Given the description of an element on the screen output the (x, y) to click on. 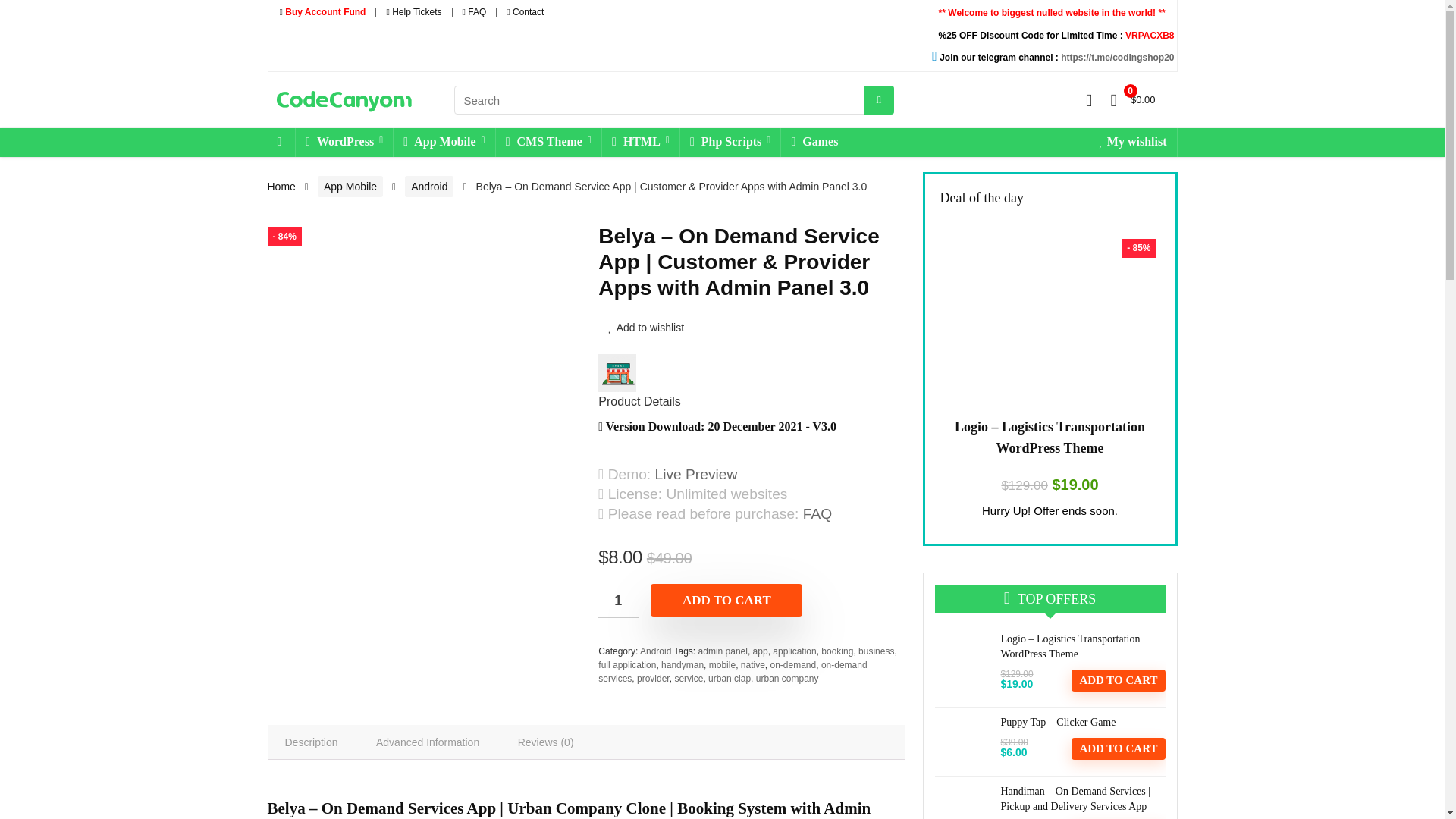
ADD TO CART (726, 599)
App Mobile (444, 142)
Home (280, 186)
CMS Theme (548, 142)
Help Tickets (413, 11)
Android (428, 186)
My wishlist (1132, 142)
Buy Account Fund (322, 11)
Games (813, 142)
FAQ (474, 11)
